Given the description of an element on the screen output the (x, y) to click on. 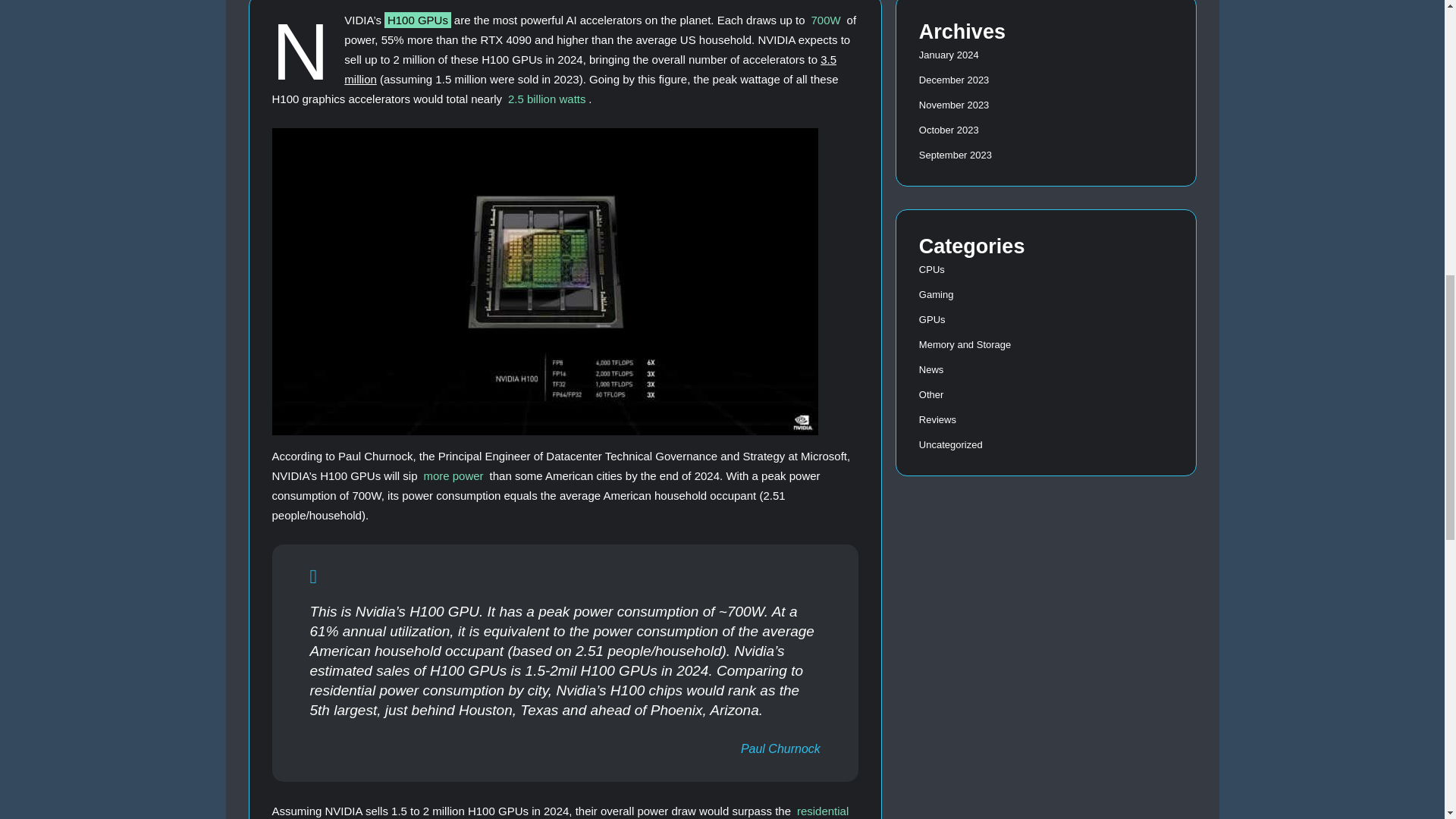
News (930, 369)
Uncategorized (950, 443)
September 2023 (954, 154)
Gaming (935, 293)
November 2023 (954, 104)
Reviews (937, 419)
CPUs (931, 269)
Paul Churnock (781, 748)
January 2024 (948, 54)
October 2023 (948, 129)
Memory and Storage (964, 343)
Other (930, 393)
GPUs (931, 319)
December 2023 (954, 79)
